Given the description of an element on the screen output the (x, y) to click on. 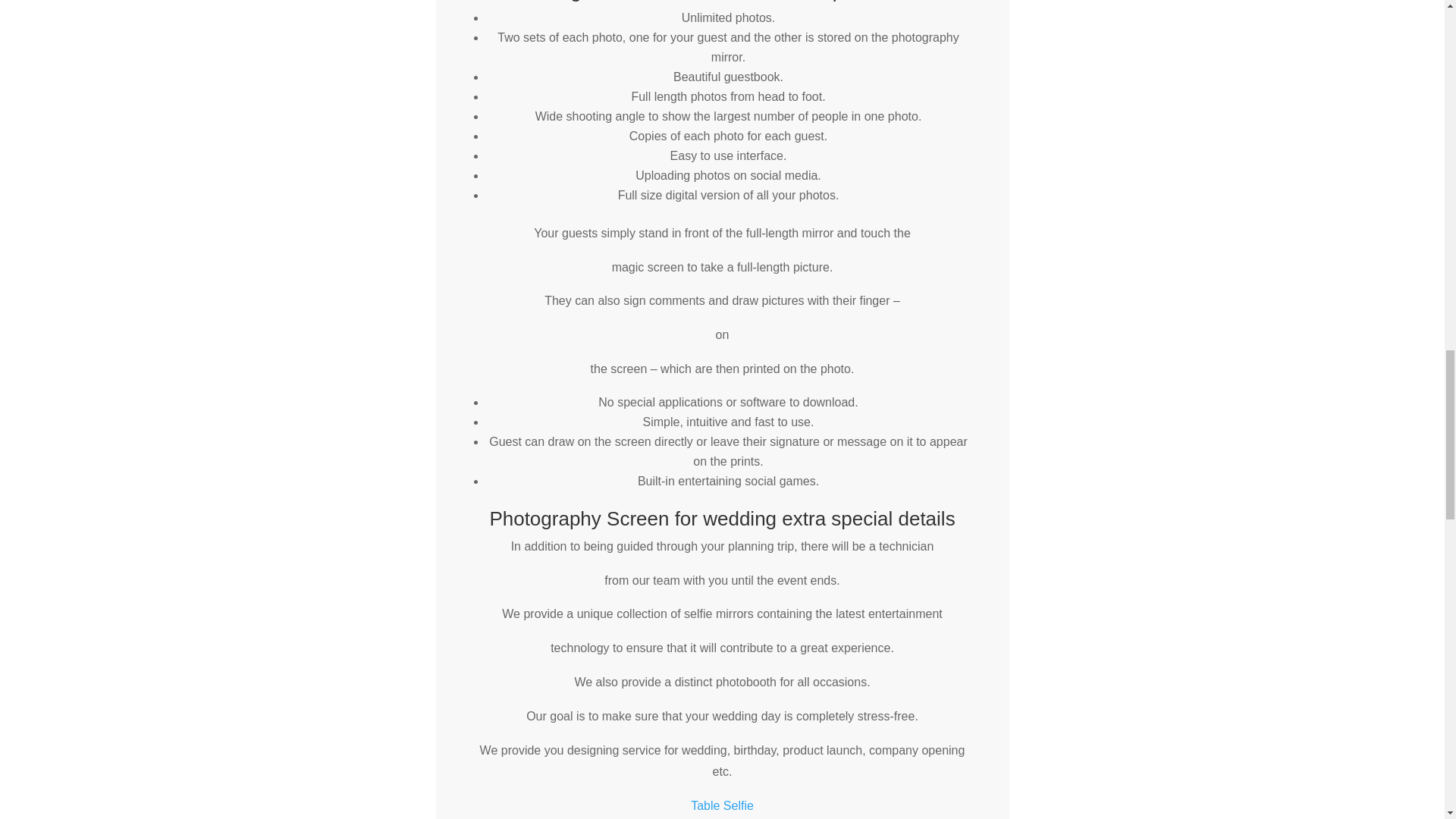
Table Selfie (722, 805)
